Given the description of an element on the screen output the (x, y) to click on. 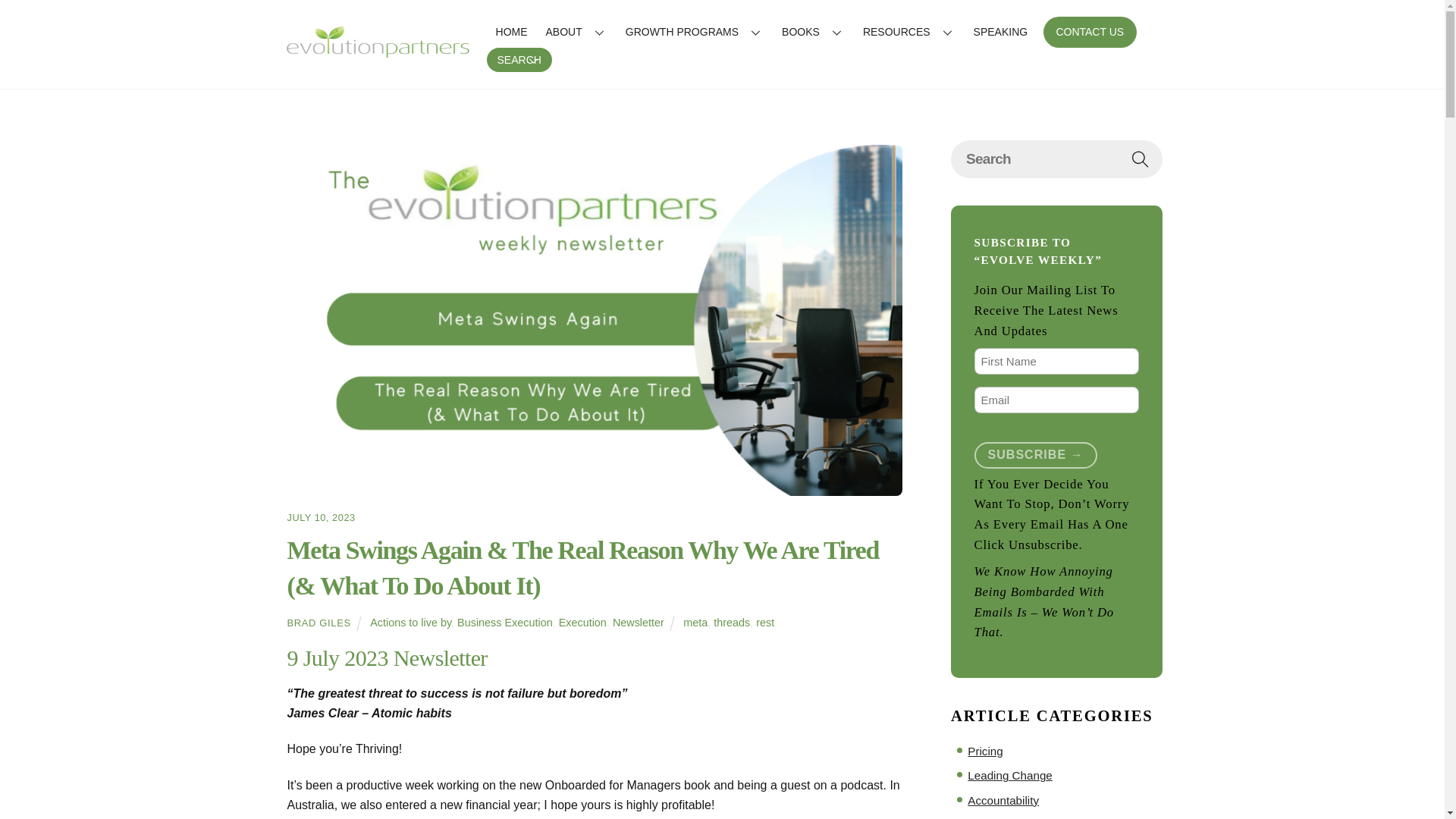
ABOUT (576, 31)
Search (1055, 158)
SEARCH (518, 59)
RESOURCES (908, 31)
HOME (511, 31)
meta (694, 622)
GROWTH PROGRAMS (694, 31)
CONTACT US (1090, 31)
SPEAKING (999, 31)
Actions to live by (410, 622)
BOOKS (813, 31)
Evolution Partners (376, 53)
Business Execution (505, 622)
